Given the description of an element on the screen output the (x, y) to click on. 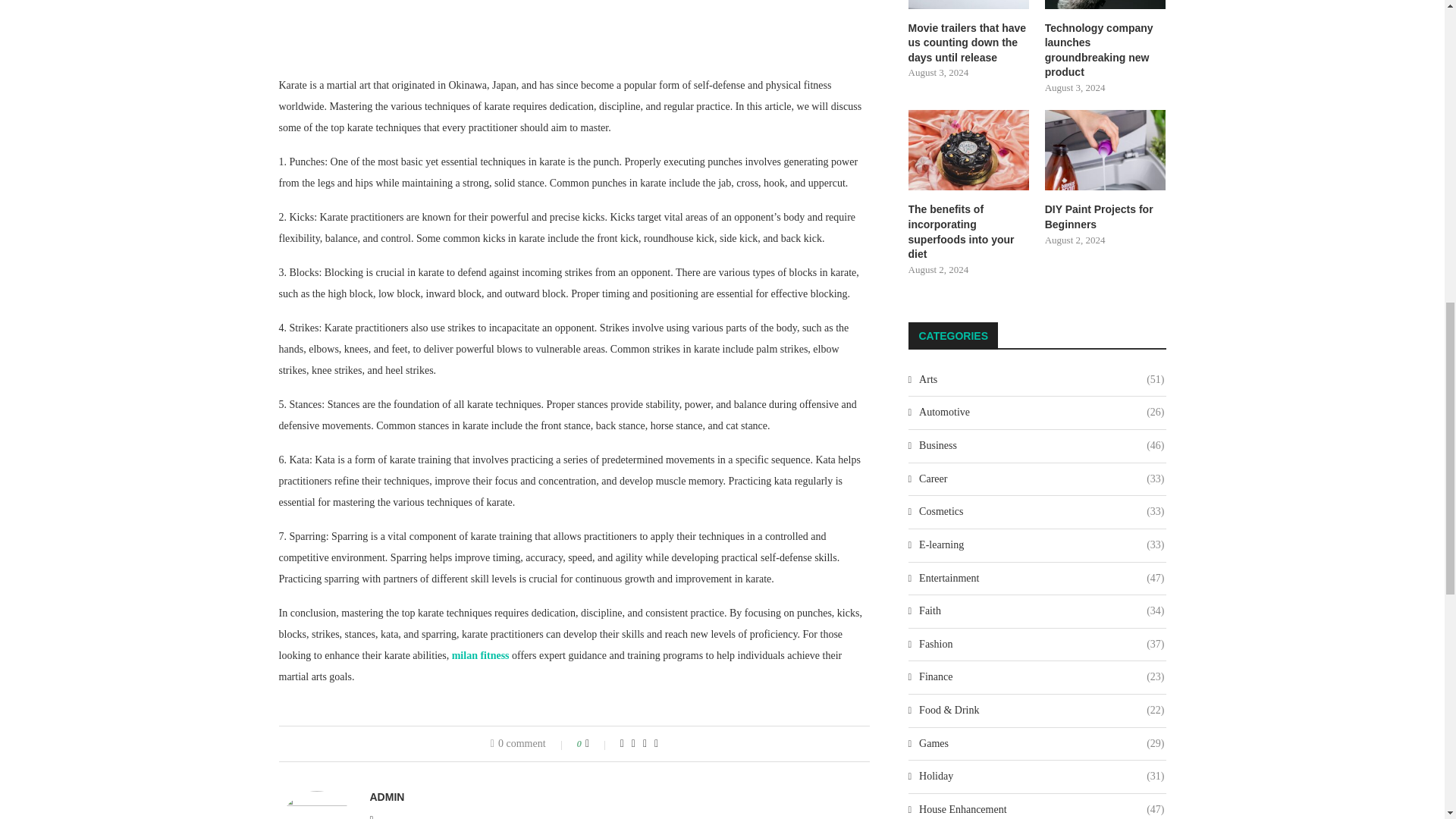
ADMIN (386, 797)
milan fitness (480, 655)
Top-Karate-Techniques-to-Master (574, 27)
Like (597, 743)
Author admin (386, 797)
